Given the description of an element on the screen output the (x, y) to click on. 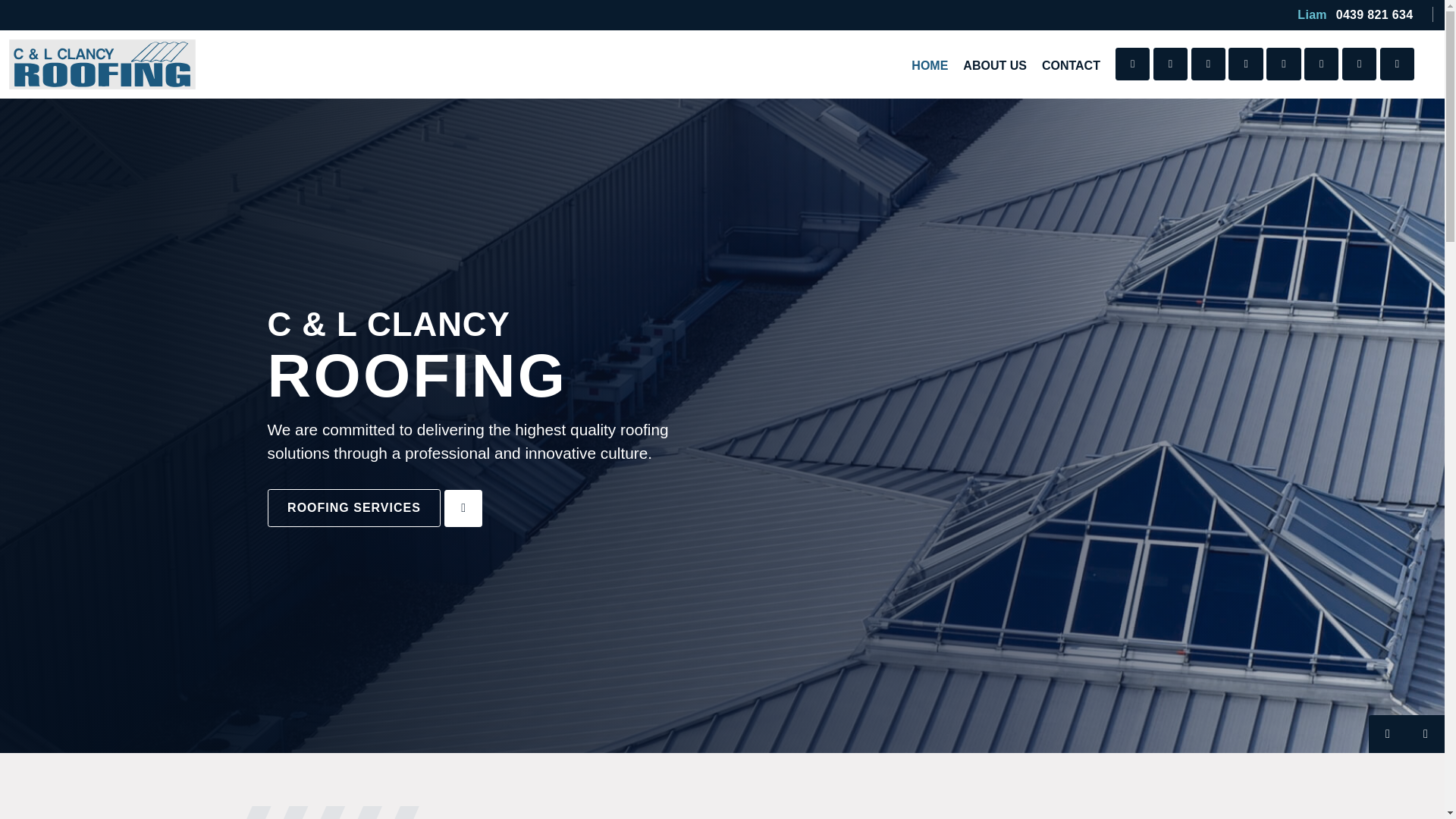
CONTACT (1071, 65)
ROOFING SERVICES (353, 507)
HOME (929, 65)
ABOUT US (994, 65)
